Given the description of an element on the screen output the (x, y) to click on. 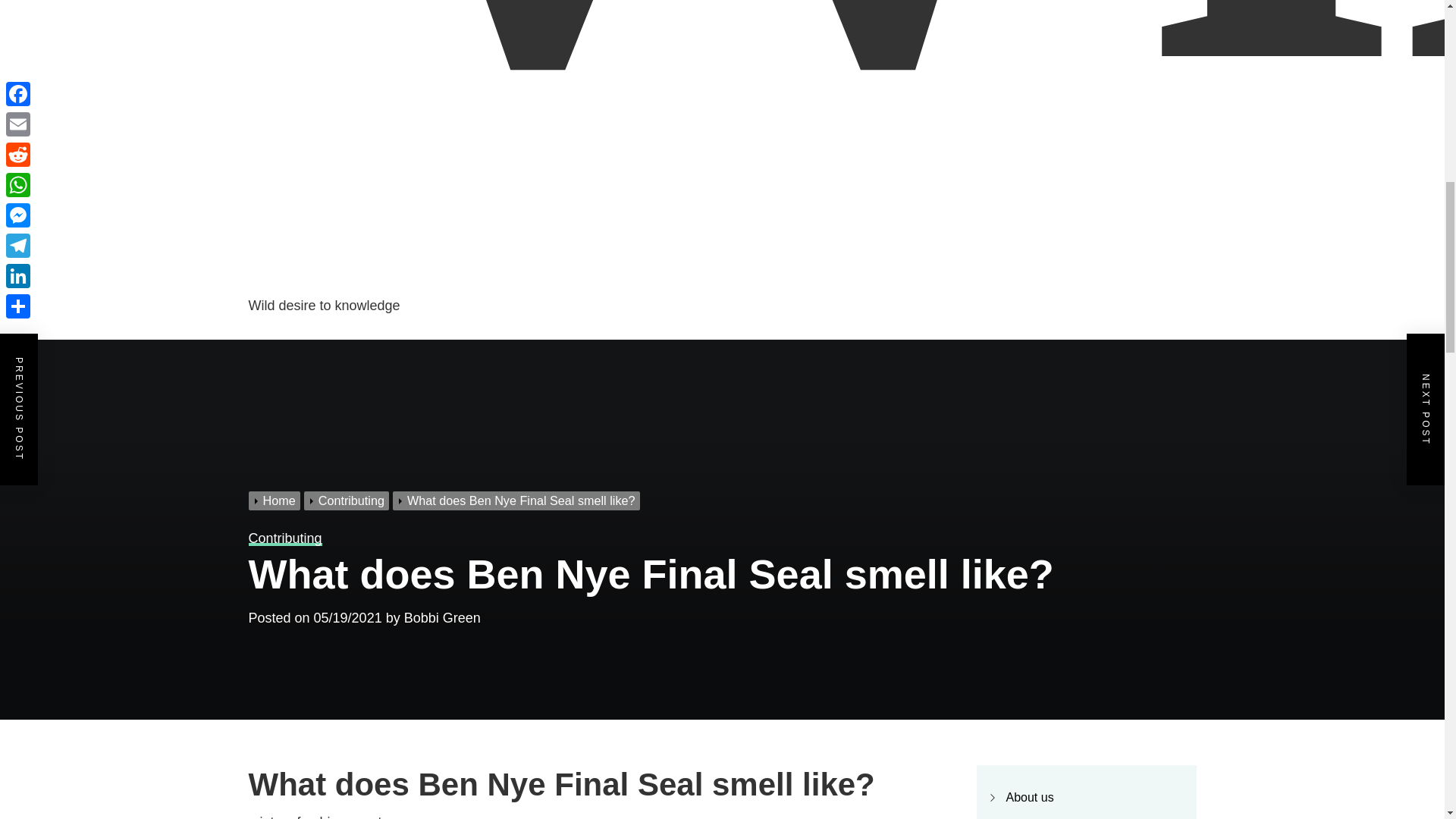
Contributing (284, 538)
Bobbi Green (442, 617)
Home (276, 499)
About us (1029, 797)
Contributing (348, 499)
What does Ben Nye Final Seal smell like? (518, 499)
